Given the description of an element on the screen output the (x, y) to click on. 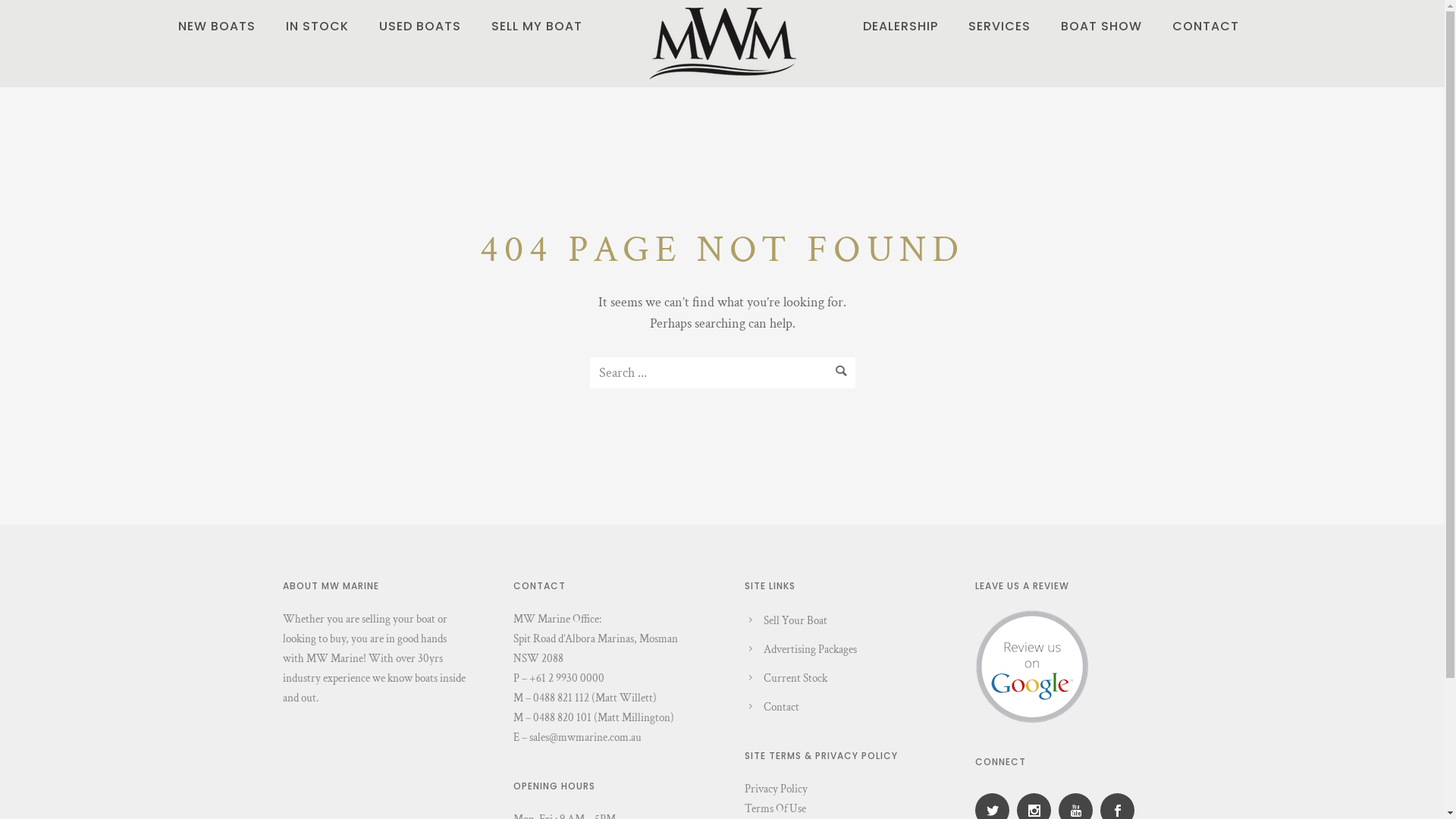
USED BOATS Element type: text (420, 25)
Current Stock Element type: text (794, 678)
Terms Of Use Element type: text (775, 808)
+61 2 9930 0000 Element type: text (566, 678)
SERVICES Element type: text (998, 25)
sales@mwmarine.com.au Element type: text (585, 737)
0488 820 101 Element type: text (562, 717)
Contact Element type: text (780, 706)
DEALERSHIP Element type: text (900, 25)
IN STOCK Element type: text (316, 25)
0488 821 112 Element type: text (561, 697)
Privacy Policy Element type: text (775, 788)
Sell Your Boat Element type: text (794, 620)
BOAT SHOW Element type: text (1100, 25)
NEW BOATS Element type: text (215, 25)
CONTACT Element type: text (1205, 25)
SELL MY BOAT Element type: text (536, 25)
Advertising Packages Element type: text (809, 649)
